Given the description of an element on the screen output the (x, y) to click on. 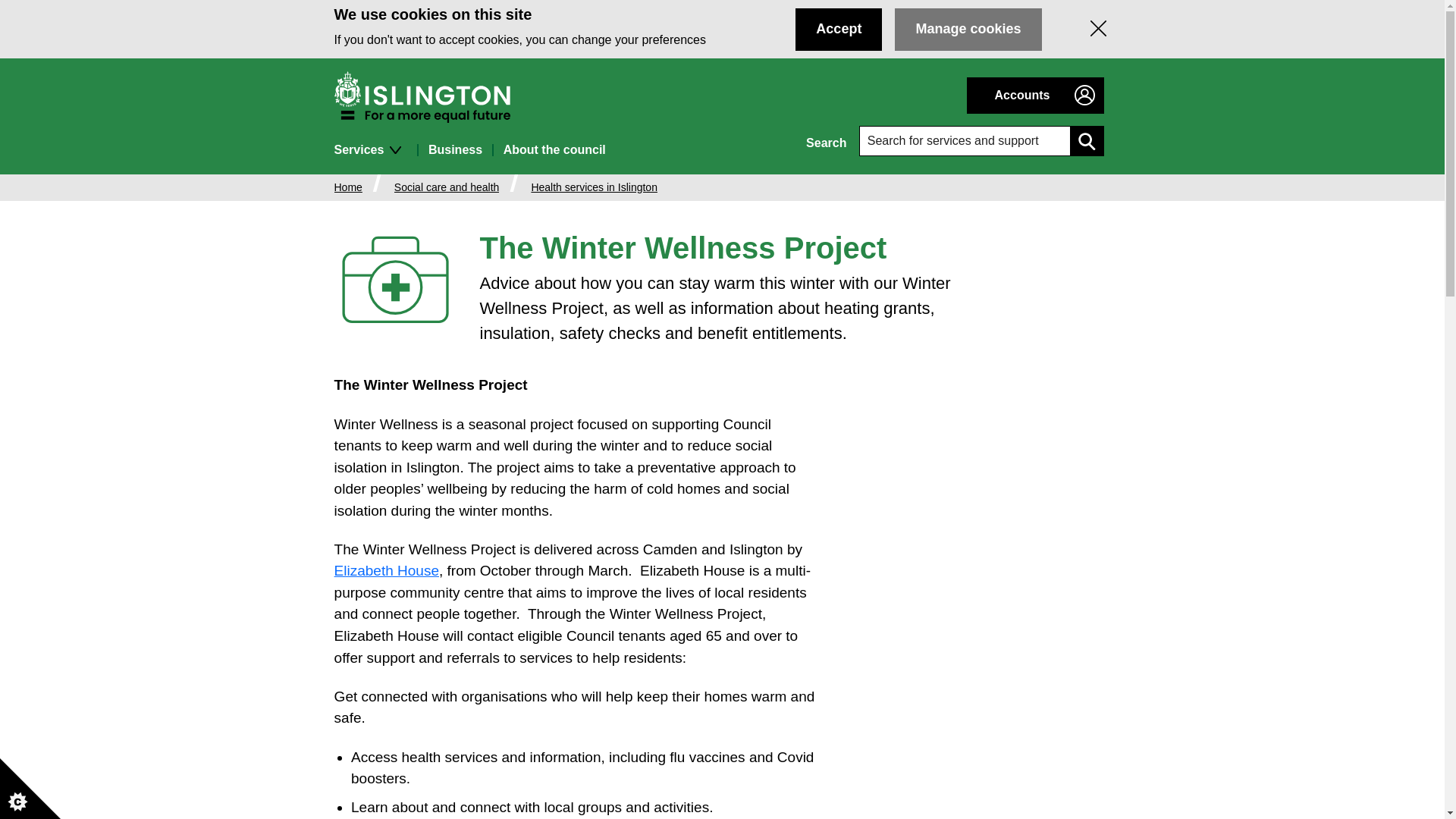
Business (455, 150)
Services (374, 150)
Social care and health (446, 186)
Accept (838, 29)
Manage cookies (968, 29)
Hide this notice (1098, 29)
Elizabeth House (386, 570)
Accounts (1034, 94)
Health services in Islington (594, 186)
Cookie Control Icon (30, 788)
About the council (554, 150)
Home (347, 186)
